Given the description of an element on the screen output the (x, y) to click on. 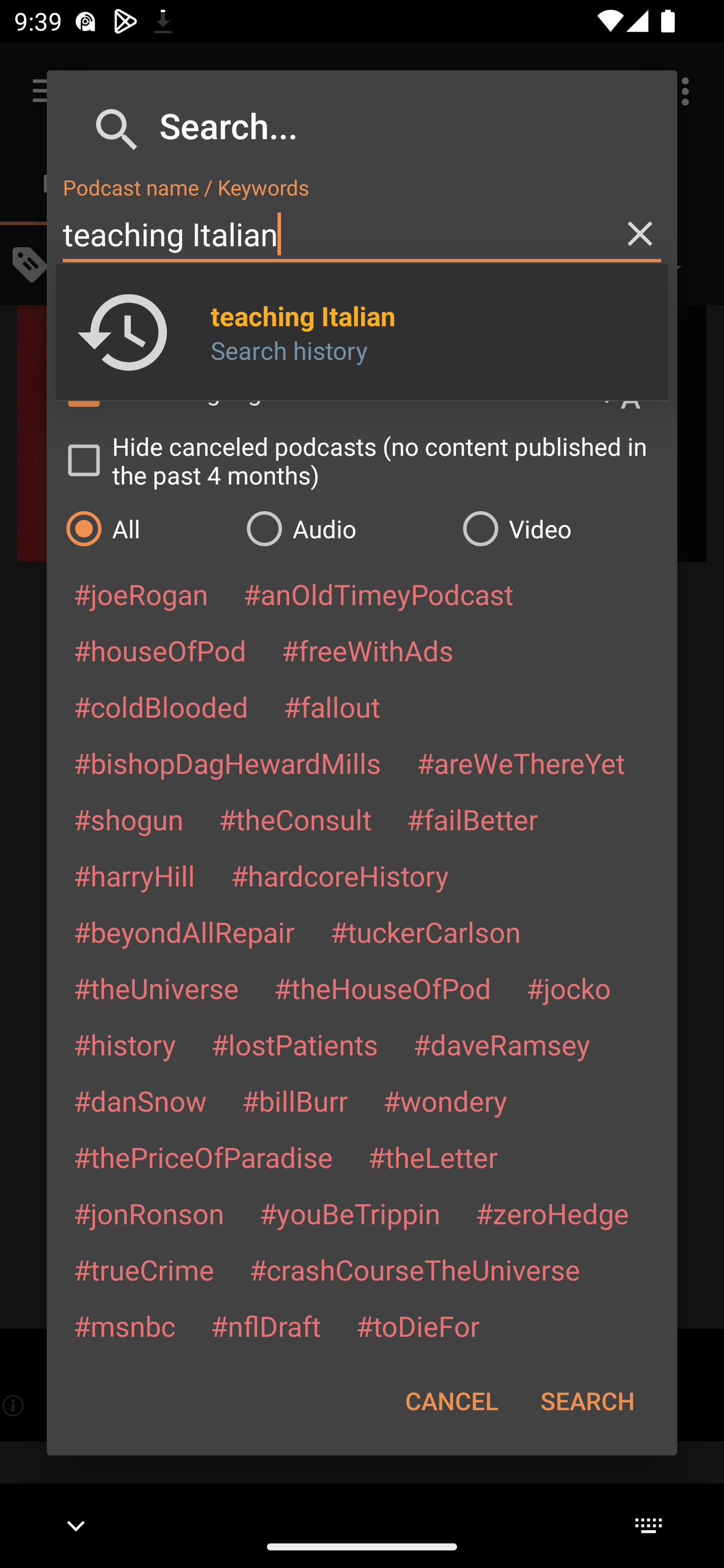
teaching Italian (361, 234)
All (145, 528)
Audio (344, 528)
Video (560, 528)
#joeRogan (140, 594)
#anOldTimeyPodcast (378, 594)
#houseOfPod (159, 650)
#freeWithAds (367, 650)
#coldBlooded (160, 705)
#fallout (331, 705)
#bishopDagHewardMills (227, 762)
#areWeThereYet (521, 762)
#shogun (128, 818)
#theConsult (294, 818)
#failBetter (471, 818)
#harryHill (134, 875)
#hardcoreHistory (339, 875)
#beyondAllRepair (184, 931)
#tuckerCarlson (425, 931)
#theUniverse (155, 987)
#theHouseOfPod (381, 987)
#jocko (568, 987)
#history (124, 1044)
#lostPatients (294, 1044)
#daveRamsey (501, 1044)
#danSnow (139, 1100)
#billBurr (294, 1100)
#wondery (444, 1100)
#thePriceOfParadise (203, 1157)
#theLetter (432, 1157)
#jonRonson (148, 1213)
#youBeTrippin (349, 1213)
#zeroHedge (552, 1213)
#trueCrime (143, 1268)
#crashCourseTheUniverse (414, 1268)
#msnbc (124, 1325)
#nflDraft (265, 1325)
#toDieFor (417, 1325)
CANCEL (451, 1400)
SEARCH (587, 1400)
